Given the description of an element on the screen output the (x, y) to click on. 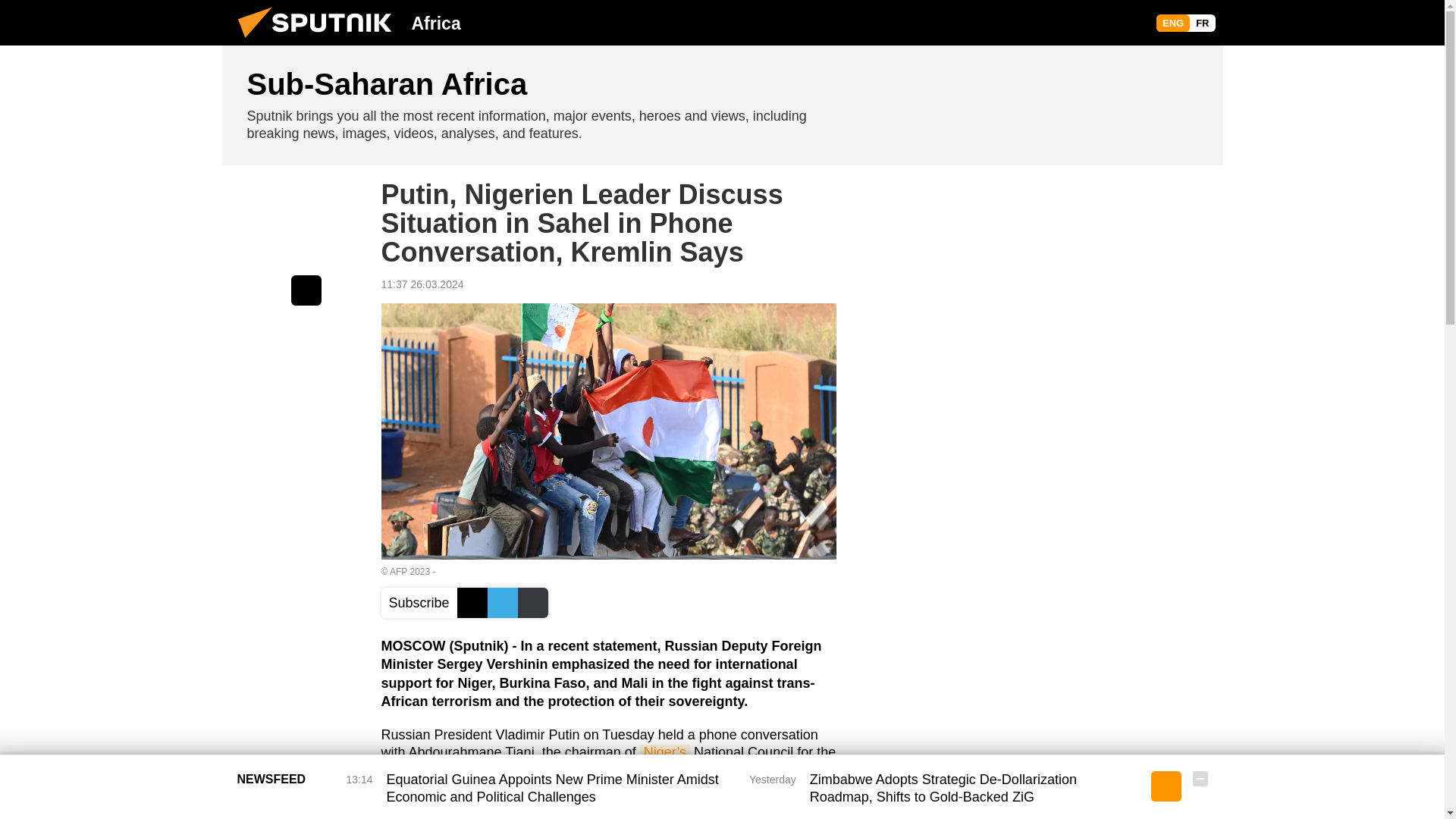
ENG (1172, 22)
FR (1201, 22)
Sputnik Africa (319, 41)
Sub-Saharan Africa (722, 105)
